Given the description of an element on the screen output the (x, y) to click on. 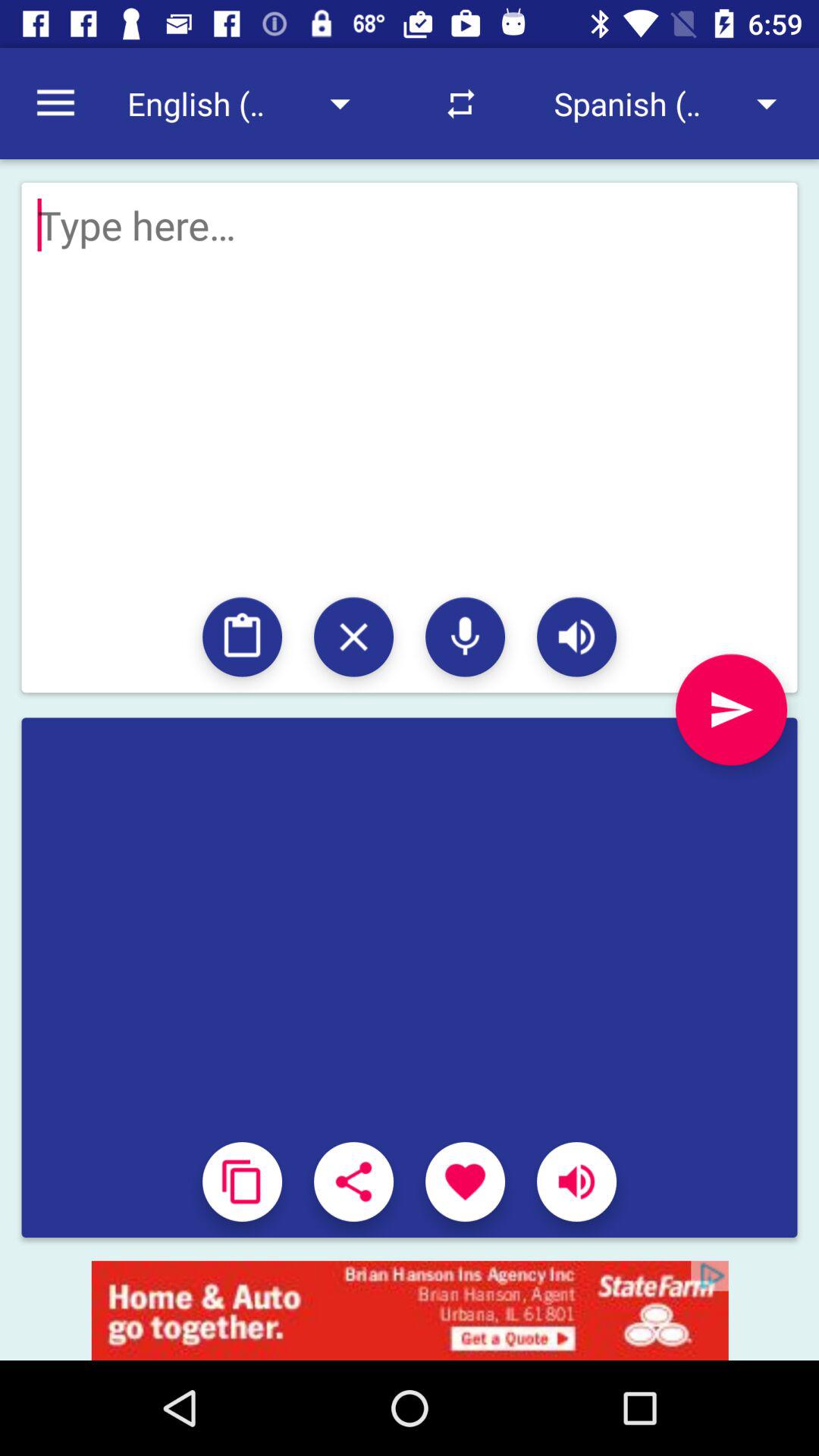
add to searched list (242, 636)
